Given the description of an element on the screen output the (x, y) to click on. 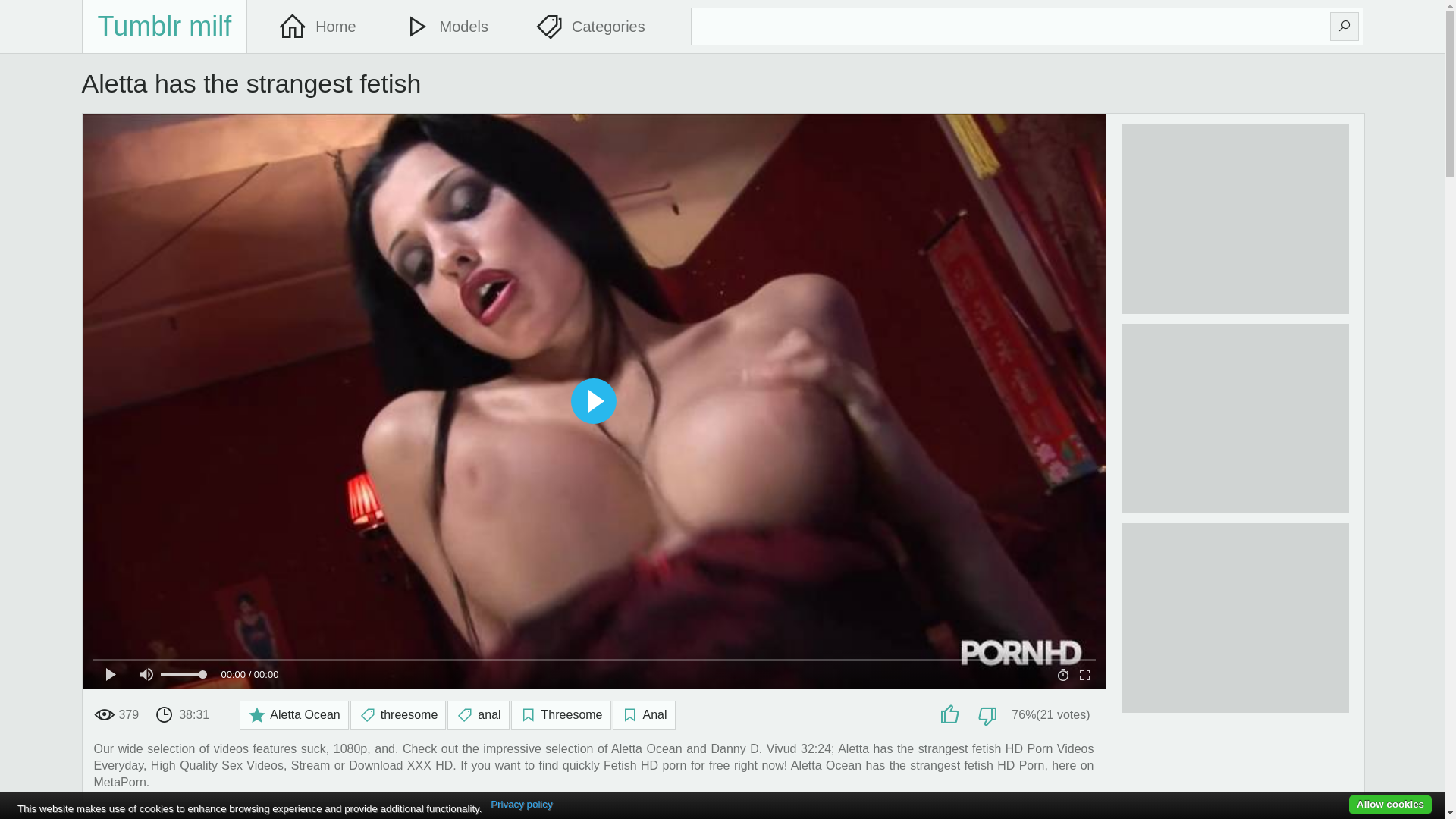
anal Element type: text (477, 714)
Like! Element type: hover (951, 714)
threesome Element type: text (398, 714)
Dislike! Element type: hover (989, 714)
Search Element type: hover (1344, 26)
Categories Element type: text (596, 26)
Allow cookies Element type: text (1390, 804)
Privacy policy Element type: text (521, 804)
Models Element type: text (452, 26)
Aletta Ocean Element type: text (293, 714)
Anal Element type: text (643, 714)
Threesome Element type: text (561, 714)
Tumblr milf Element type: text (164, 26)
Home Element type: text (323, 26)
